Given the description of an element on the screen output the (x, y) to click on. 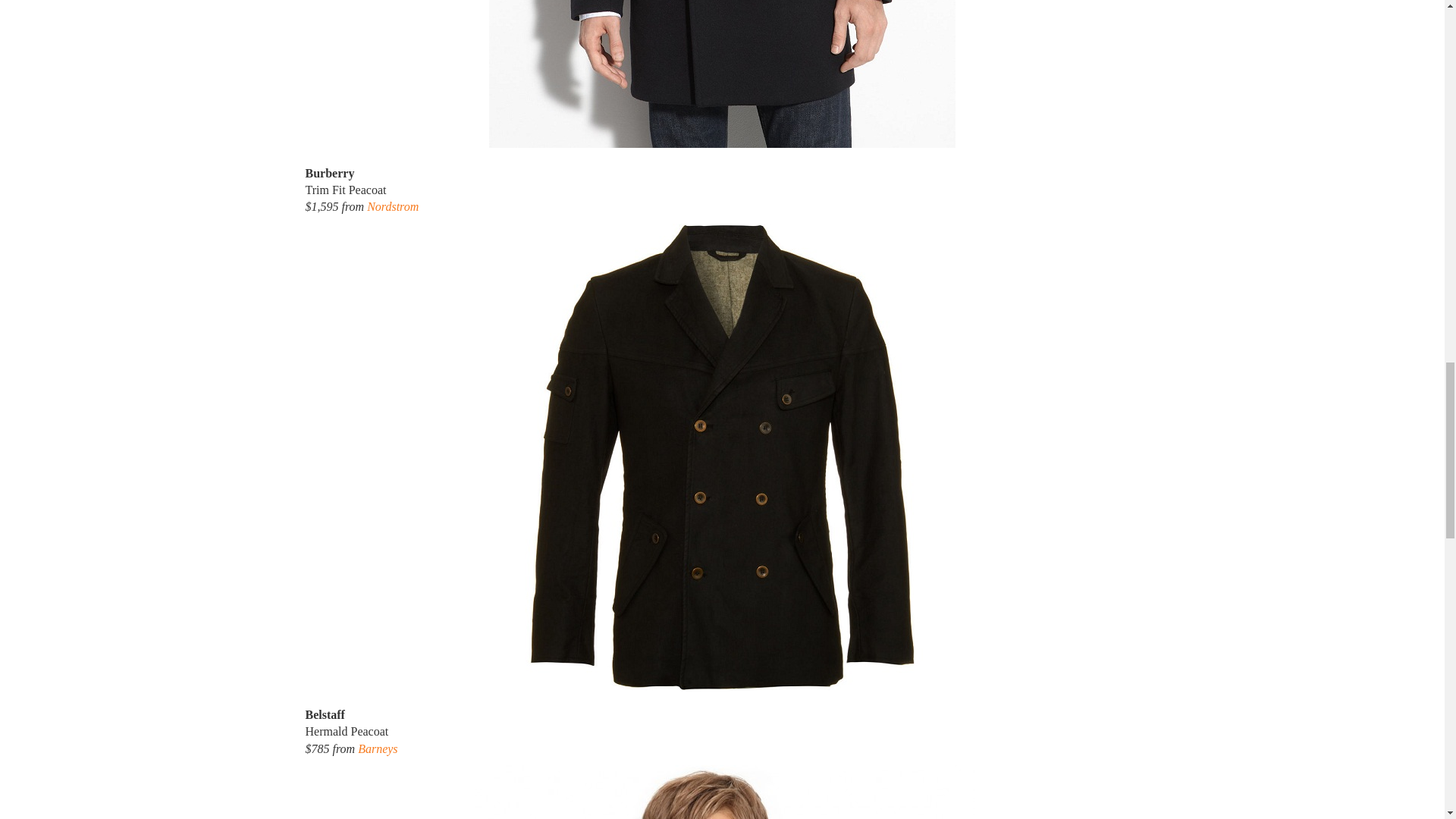
Barneys (377, 748)
Barneys (377, 748)
Diesel Trim Fit Peacoat (721, 791)
Nordstrom (392, 205)
Nordstrom (392, 205)
Burberry Trim Fit Peacoat (722, 74)
